Given the description of an element on the screen output the (x, y) to click on. 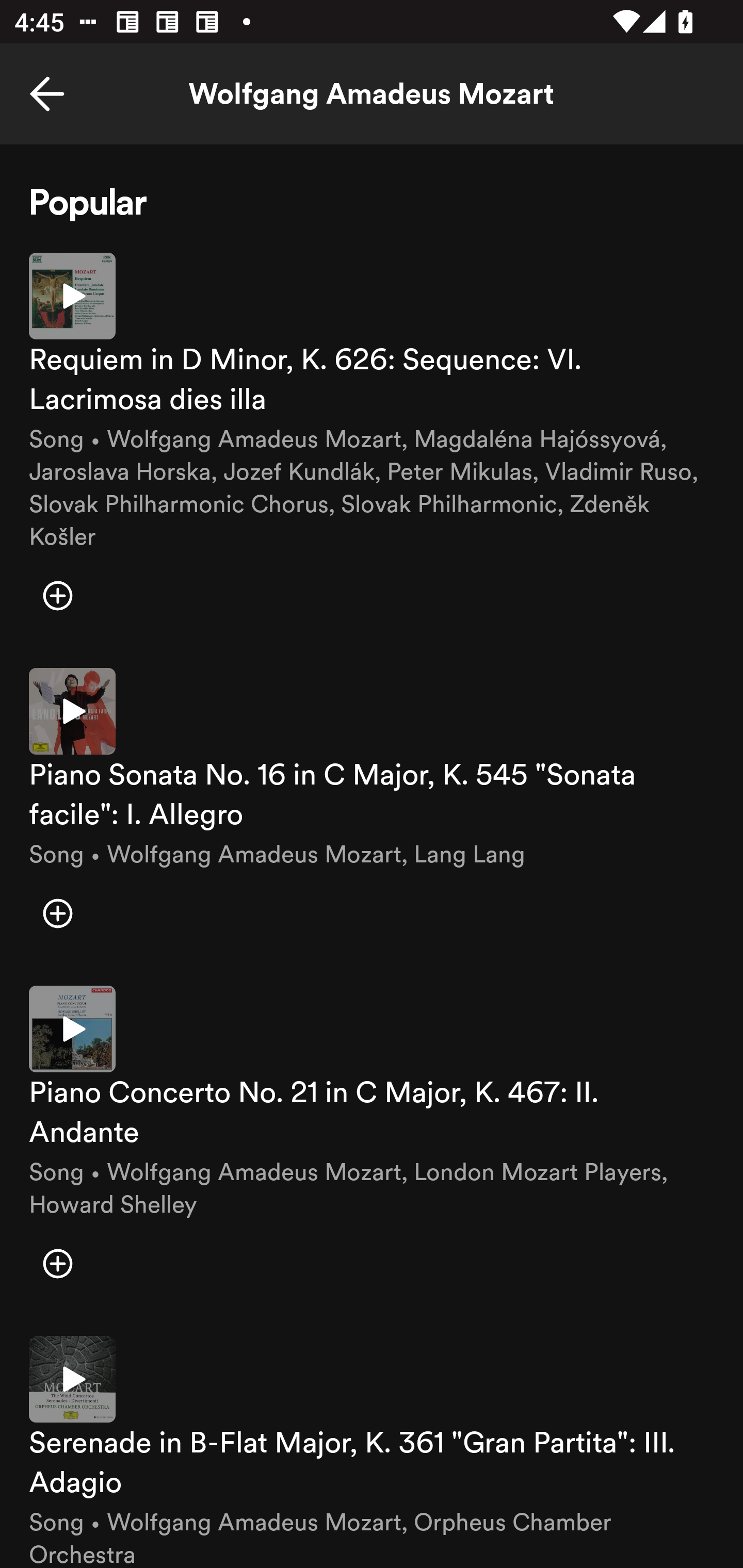
Back (46, 93)
Play preview (71, 295)
Add item (57, 595)
Play preview (71, 710)
Add item (57, 913)
Play preview (71, 1029)
Add item (57, 1263)
Play preview (71, 1378)
